Given the description of an element on the screen output the (x, y) to click on. 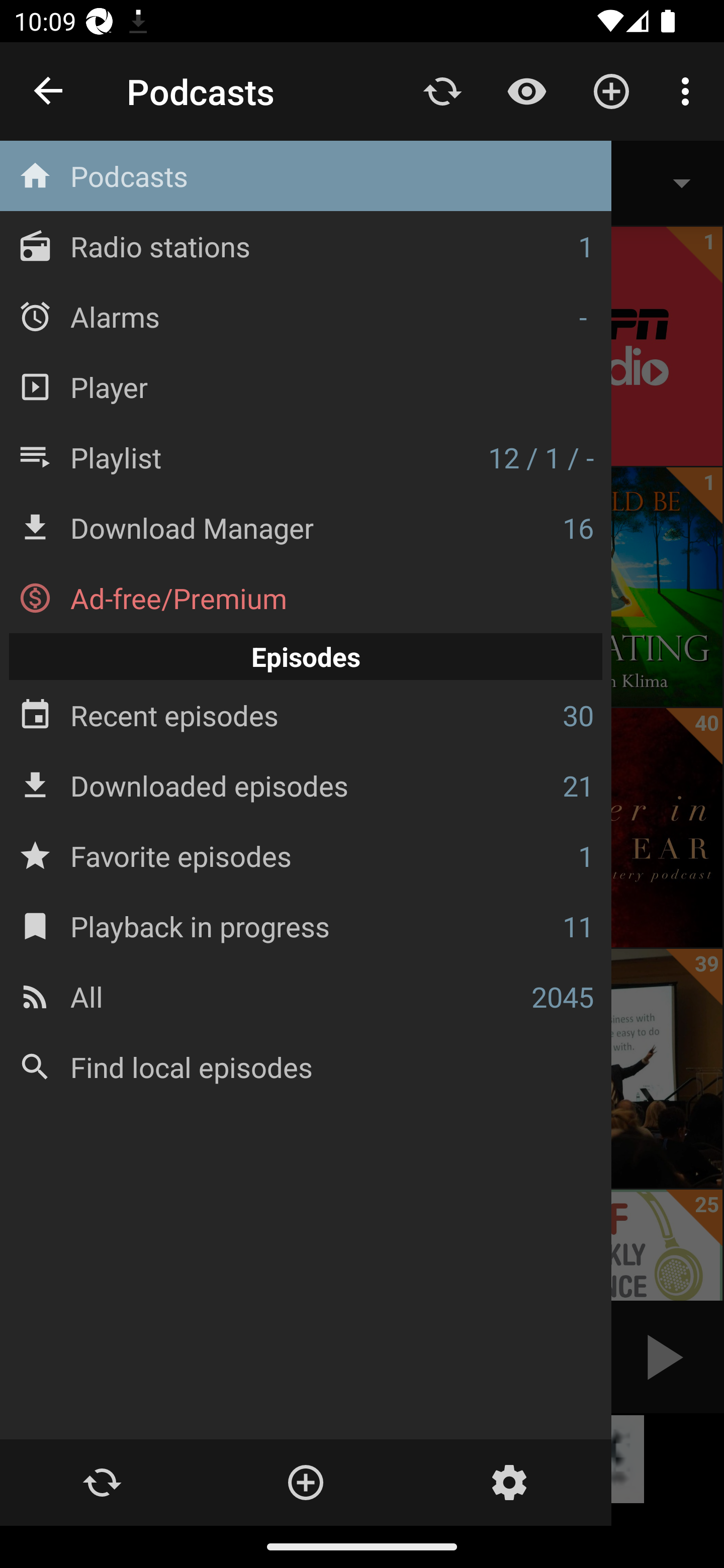
Close navigation sidebar (49, 91)
Update (442, 90)
Show / Hide played content (526, 90)
Add new Podcast (611, 90)
More options (688, 90)
Podcasts (305, 176)
Radio stations 1 (305, 245)
Alarms  -  (305, 315)
Player (305, 386)
Playlist 12 / 1 / - (305, 456)
Download Manager 16 (305, 527)
Ad-free/Premium (305, 597)
Recent episodes 30 (305, 715)
Downloaded episodes 21 (305, 785)
Favorite episodes 1 (305, 855)
Playback in progress 11 (305, 925)
All 2045 (305, 996)
Find local episodes (305, 1066)
Update (101, 1482)
Add new Podcast (304, 1482)
Settings (508, 1482)
